Given the description of an element on the screen output the (x, y) to click on. 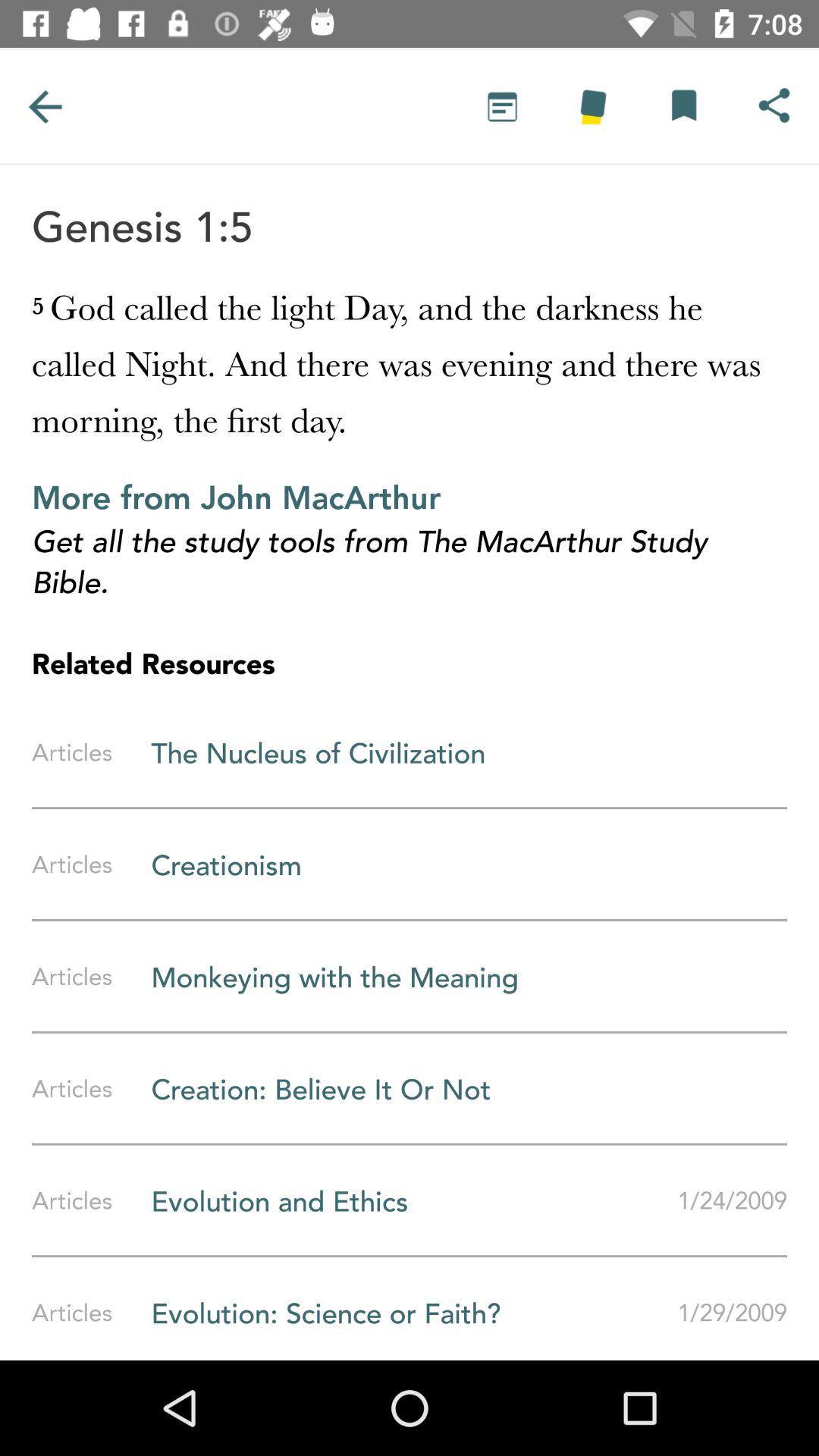
select to see entire passage (502, 106)
